Given the description of an element on the screen output the (x, y) to click on. 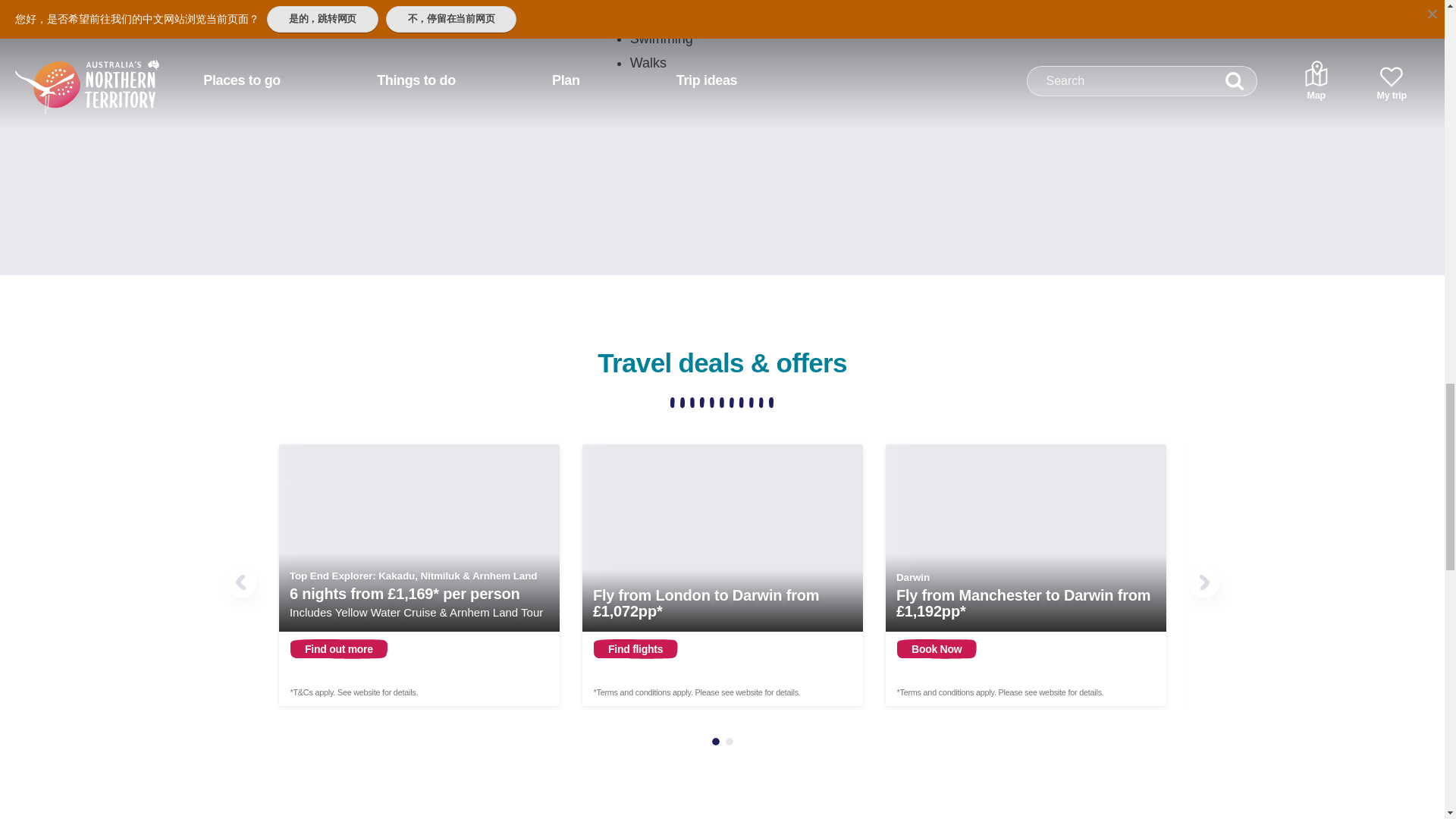
Opens in a new window (1025, 574)
Opens in a new window (419, 574)
Opens in a new window (722, 574)
